Given the description of an element on the screen output the (x, y) to click on. 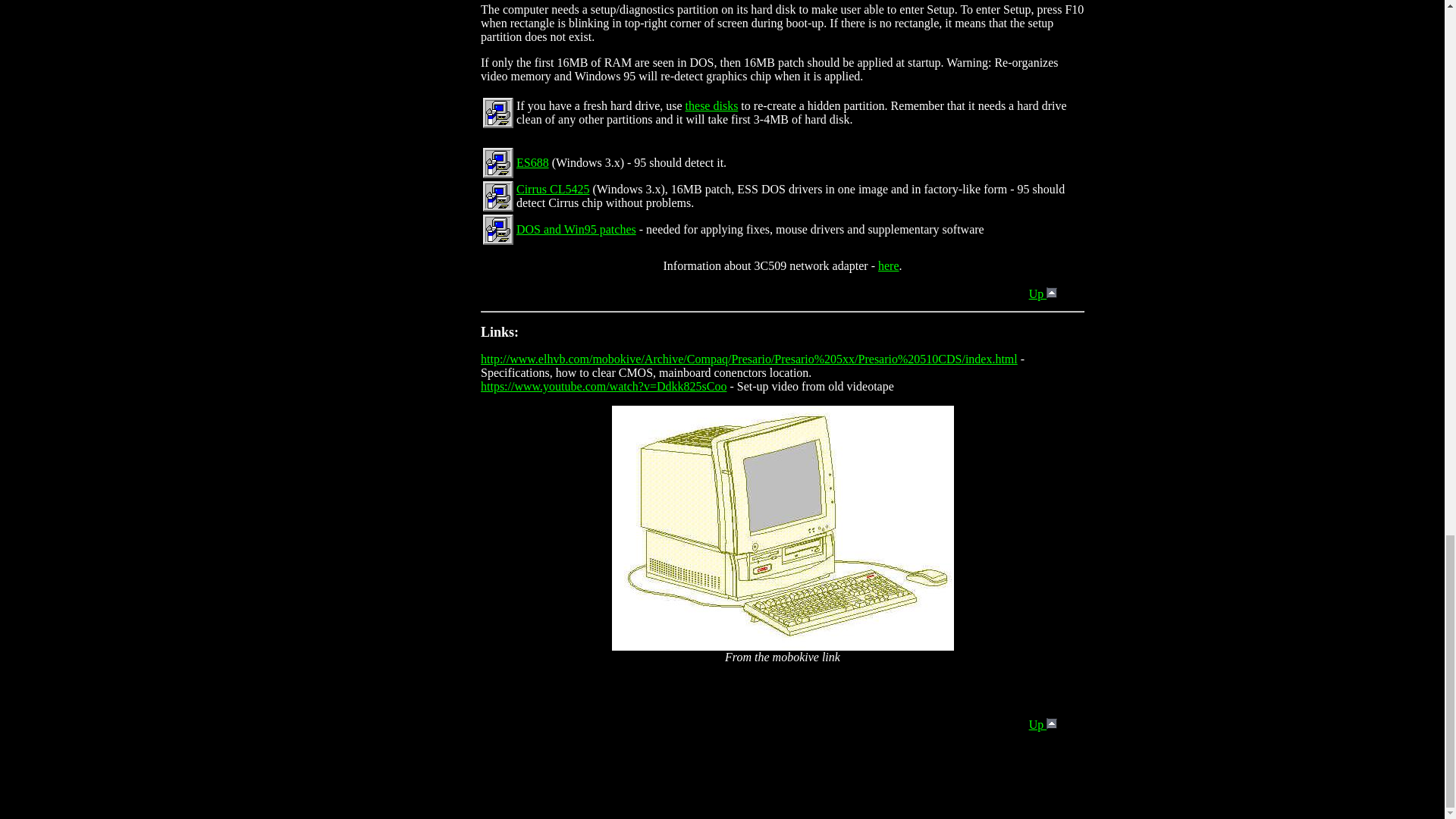
Up (1043, 293)
here (888, 265)
Up (1043, 724)
DOS and Win95 patches (576, 228)
Cirrus CL5425 (552, 188)
ES688 (532, 162)
these disks (711, 105)
